Given the description of an element on the screen output the (x, y) to click on. 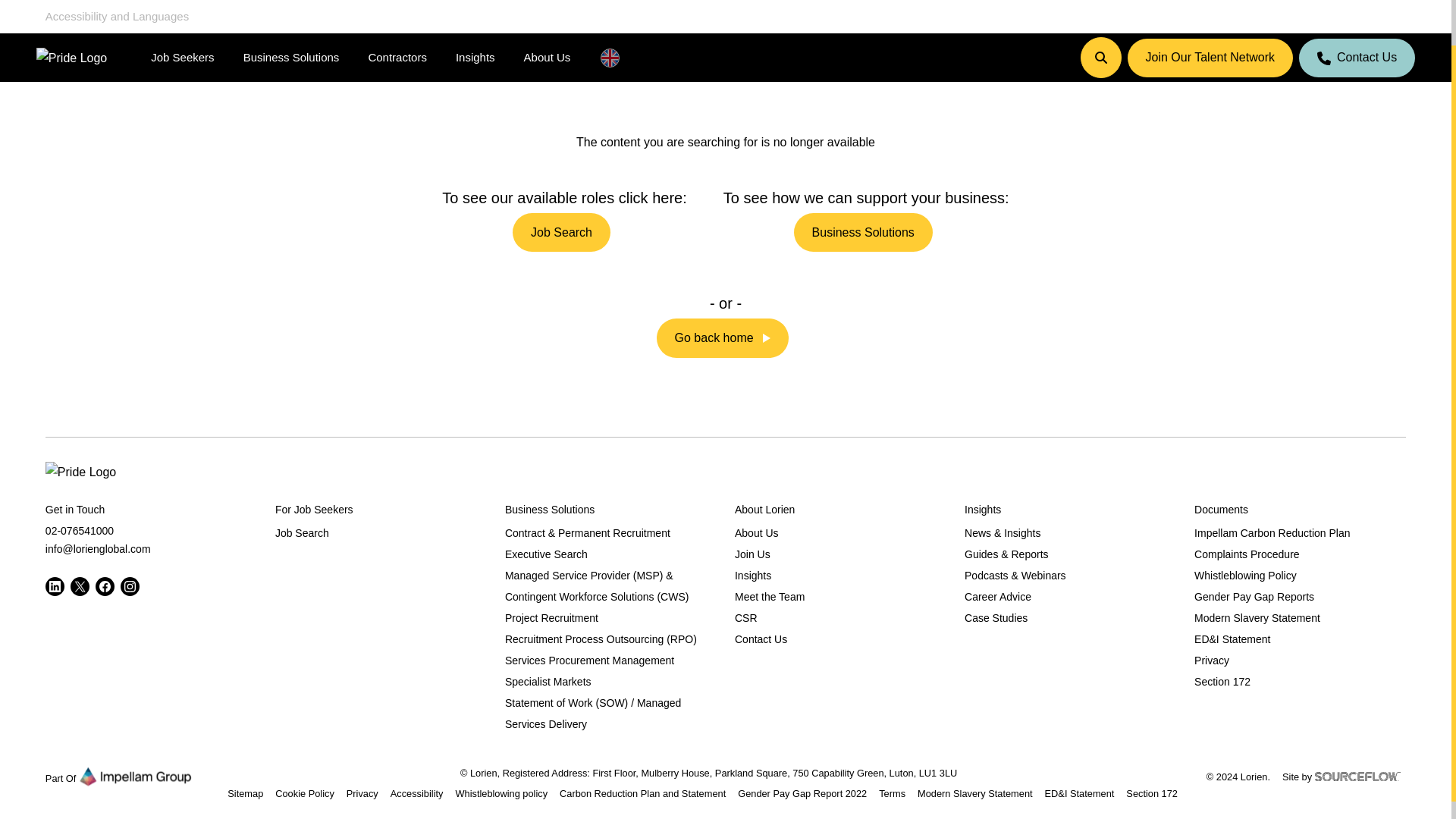
Lorien (71, 9)
Business Solutions (298, 9)
SourceFlow (1360, 775)
Contractors (403, 9)
Insights (482, 9)
Join Our Talent Network (1209, 13)
Lorien (80, 472)
Job Seekers (189, 9)
ImpellAm Group (135, 775)
About Us (554, 9)
